Given the description of an element on the screen output the (x, y) to click on. 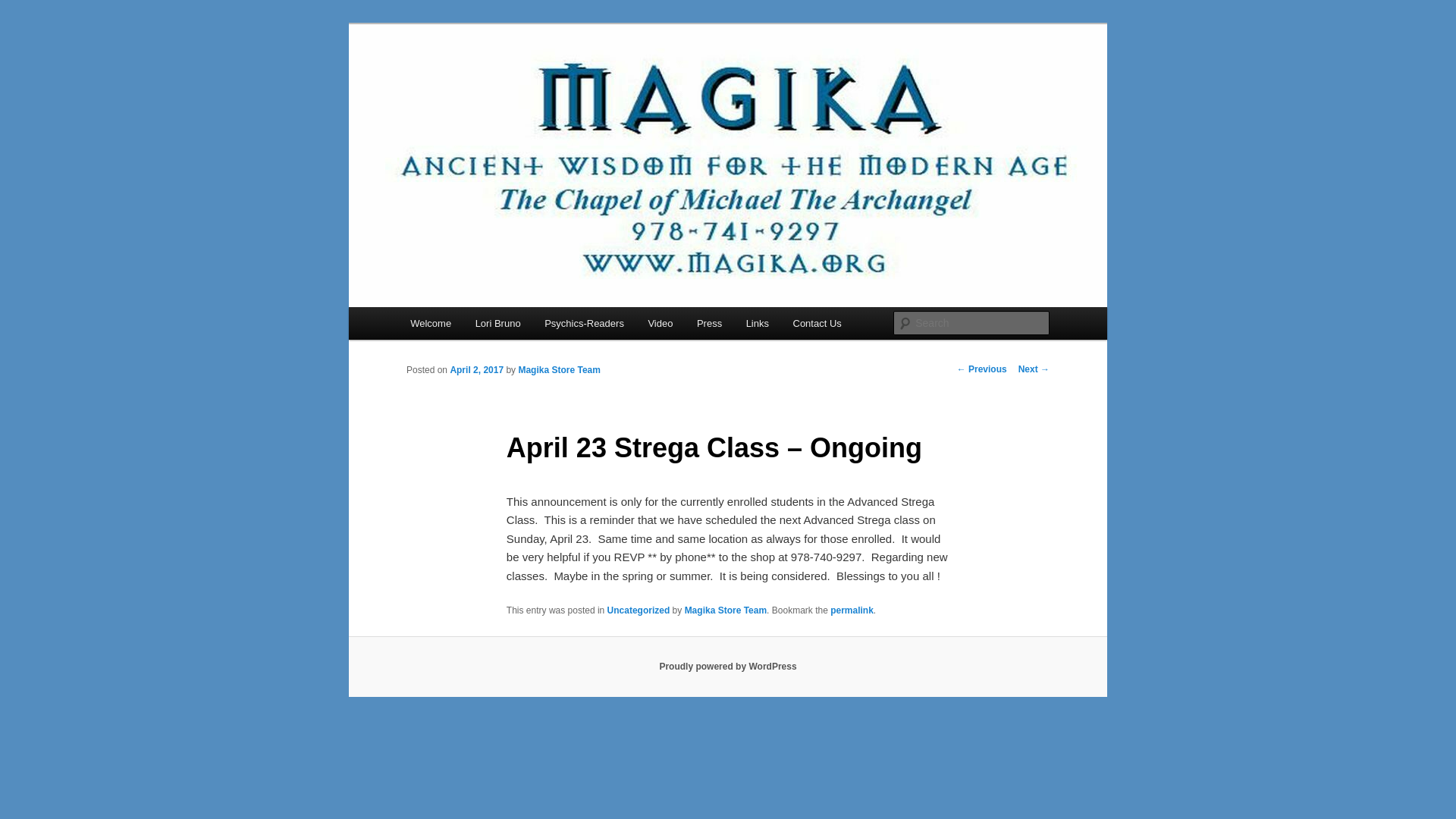
Uncategorized (638, 610)
Magika Store Team (725, 610)
Video (660, 323)
Lori Bruno (497, 323)
April 2, 2017 (476, 369)
Magika (444, 78)
2:12 pm (476, 369)
Semantic Personal Publishing Platform (727, 665)
Links (756, 323)
